Given the description of an element on the screen output the (x, y) to click on. 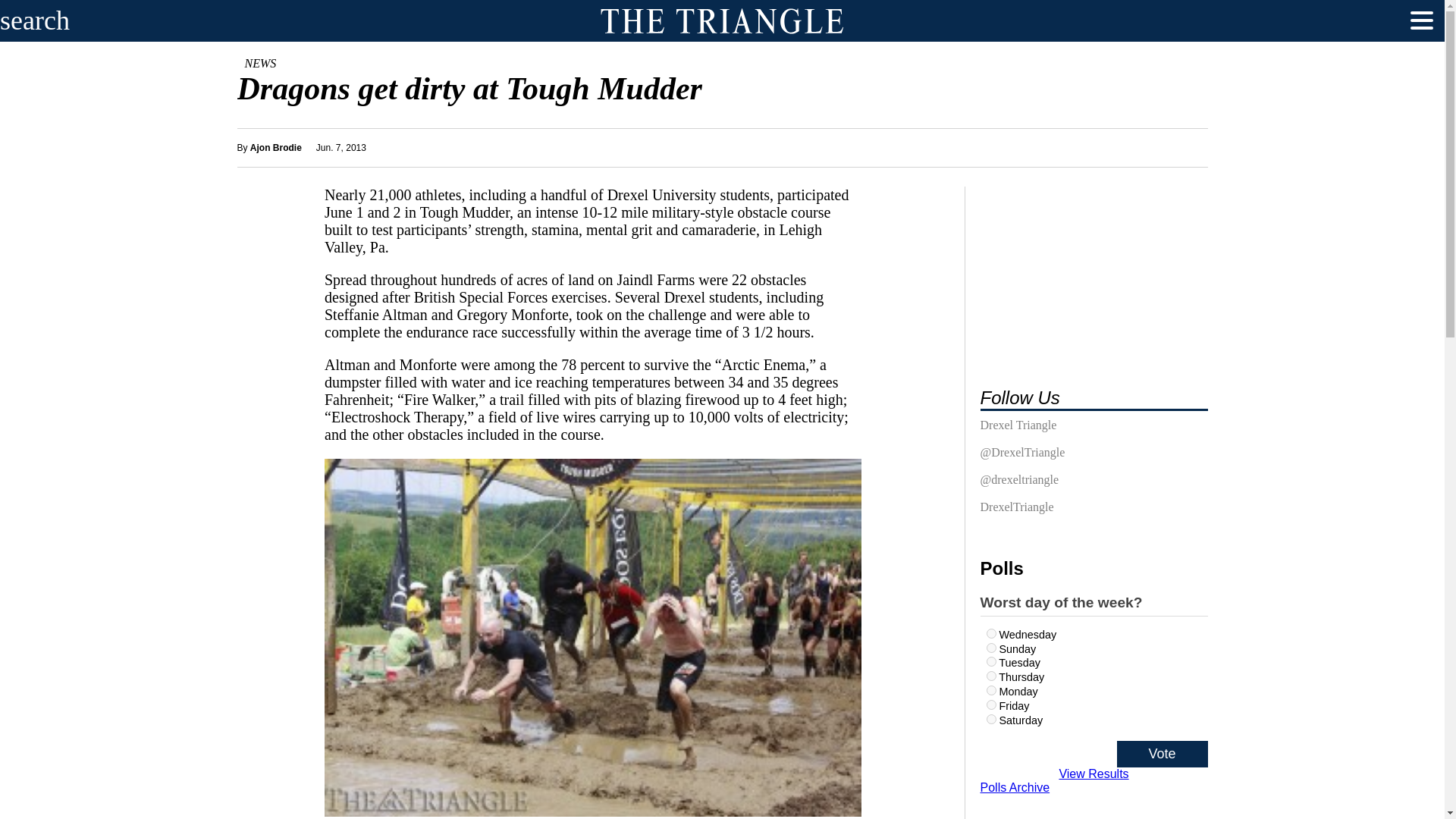
580 (990, 633)
577 (990, 647)
View Results Of This Poll (1093, 773)
581 (990, 675)
582 (990, 705)
Posts by Ajon Brodie (275, 147)
583 (990, 718)
579 (990, 661)
View Results (1093, 773)
DrexelTriangle (1015, 510)
